Given the description of an element on the screen output the (x, y) to click on. 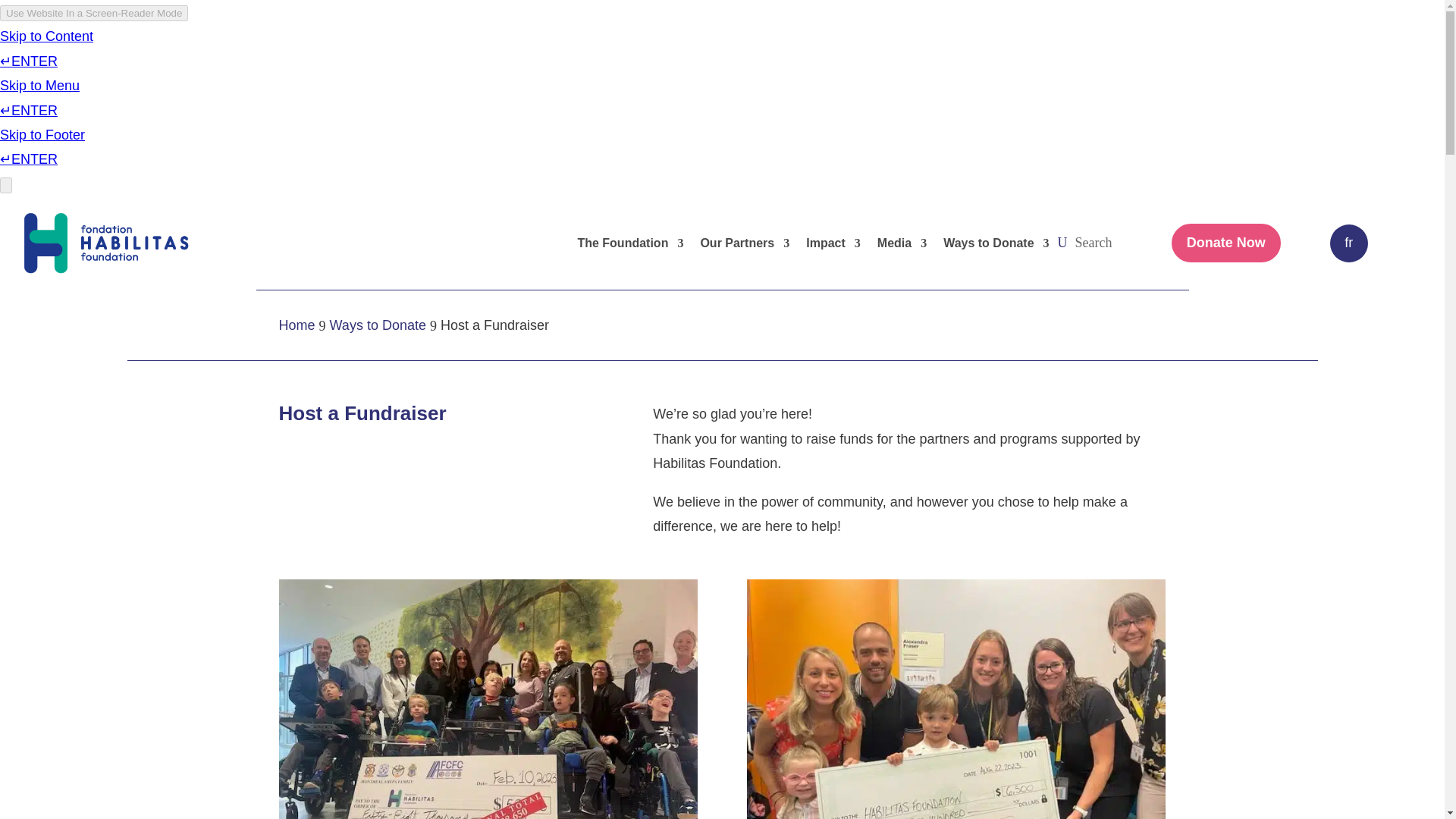
The Foundation (629, 242)
Ways to Donate (995, 242)
Our Partners (744, 242)
